Given the description of an element on the screen output the (x, y) to click on. 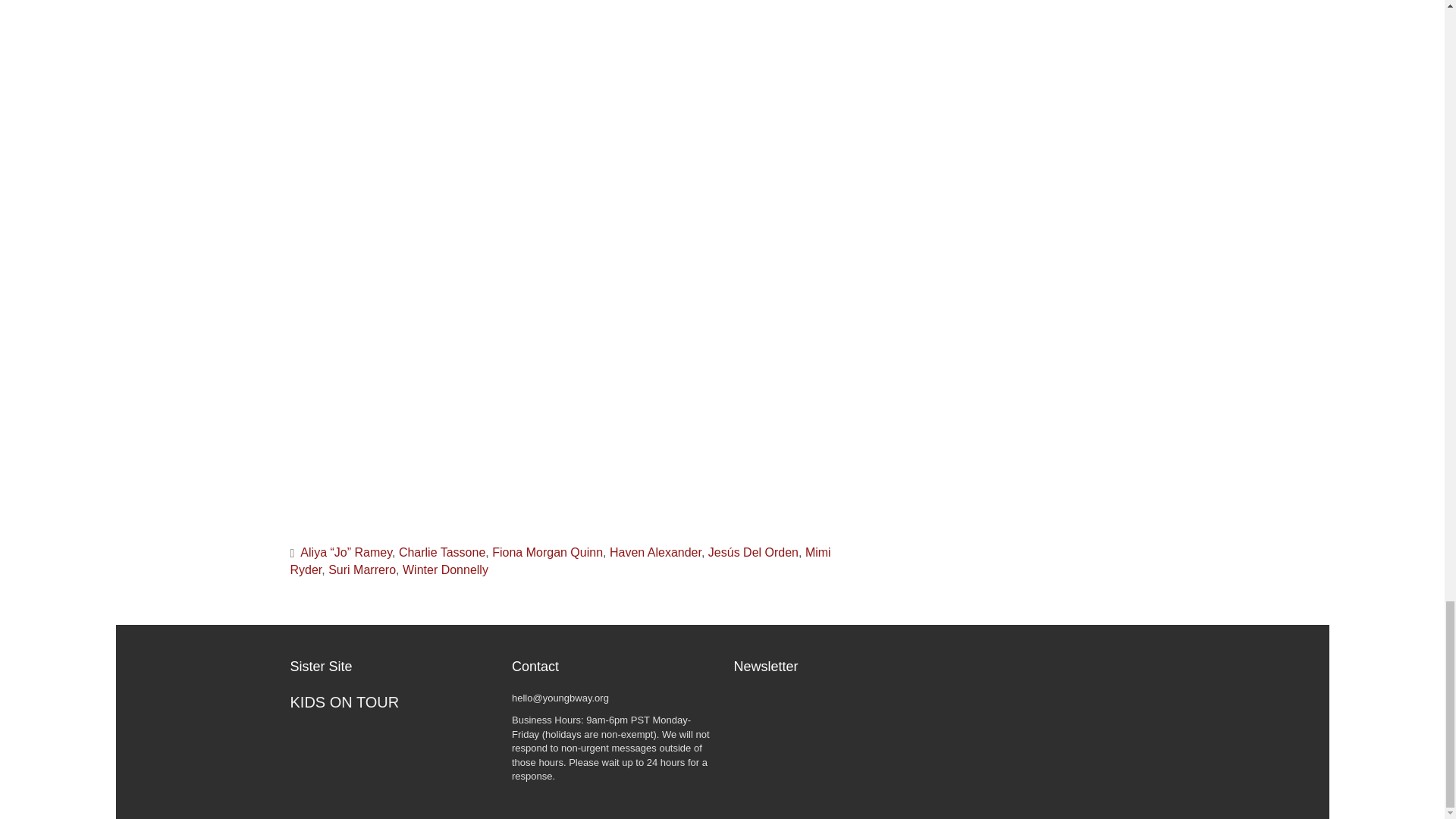
Mimi Ryder (559, 561)
Charlie Tassone (441, 552)
Haven Alexander (655, 552)
Fiona Morgan Quinn (547, 552)
